Given the description of an element on the screen output the (x, y) to click on. 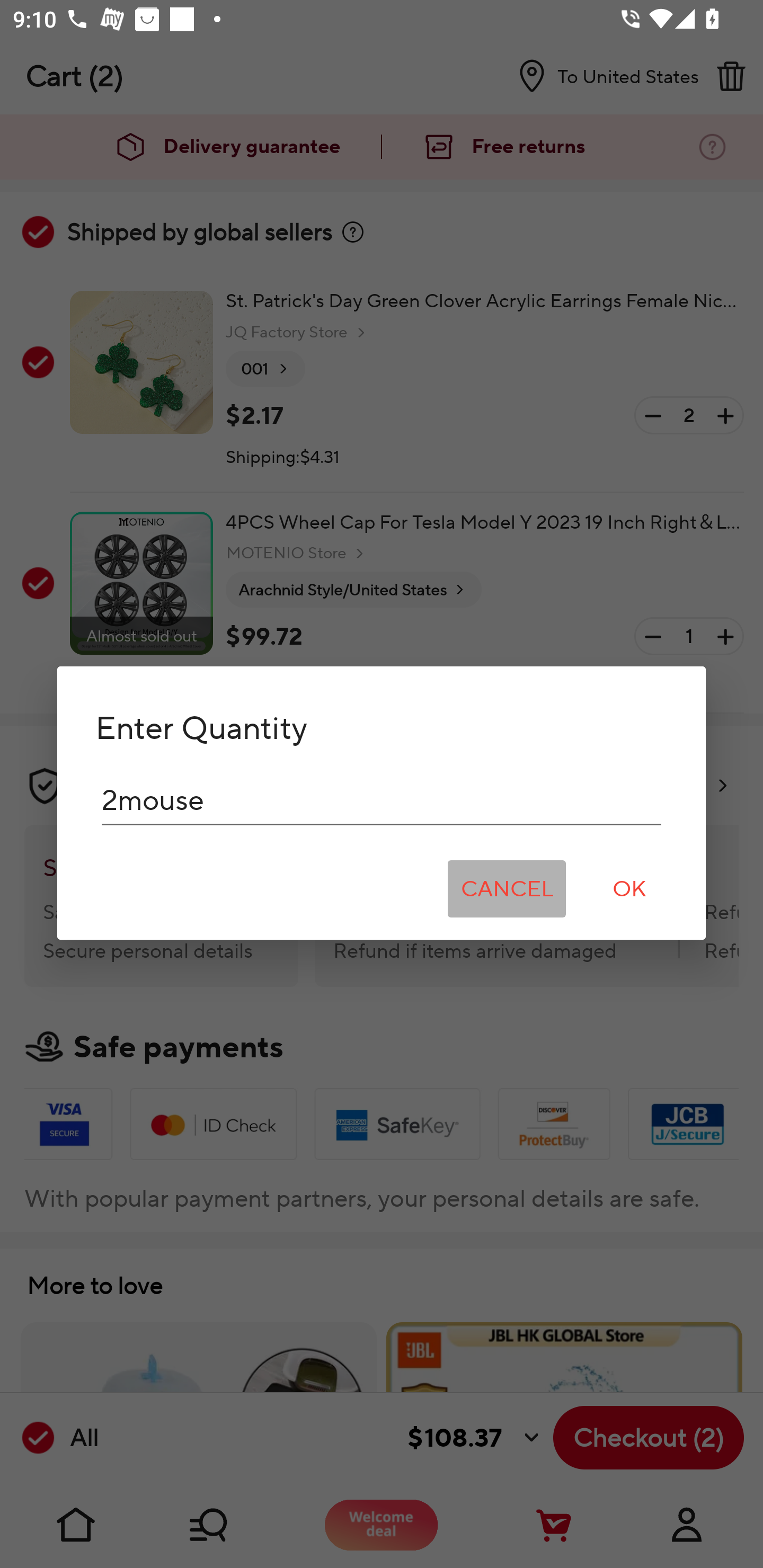
2mouse (381, 800)
CANCEL (506, 888)
OK (629, 888)
